Given the description of an element on the screen output the (x, y) to click on. 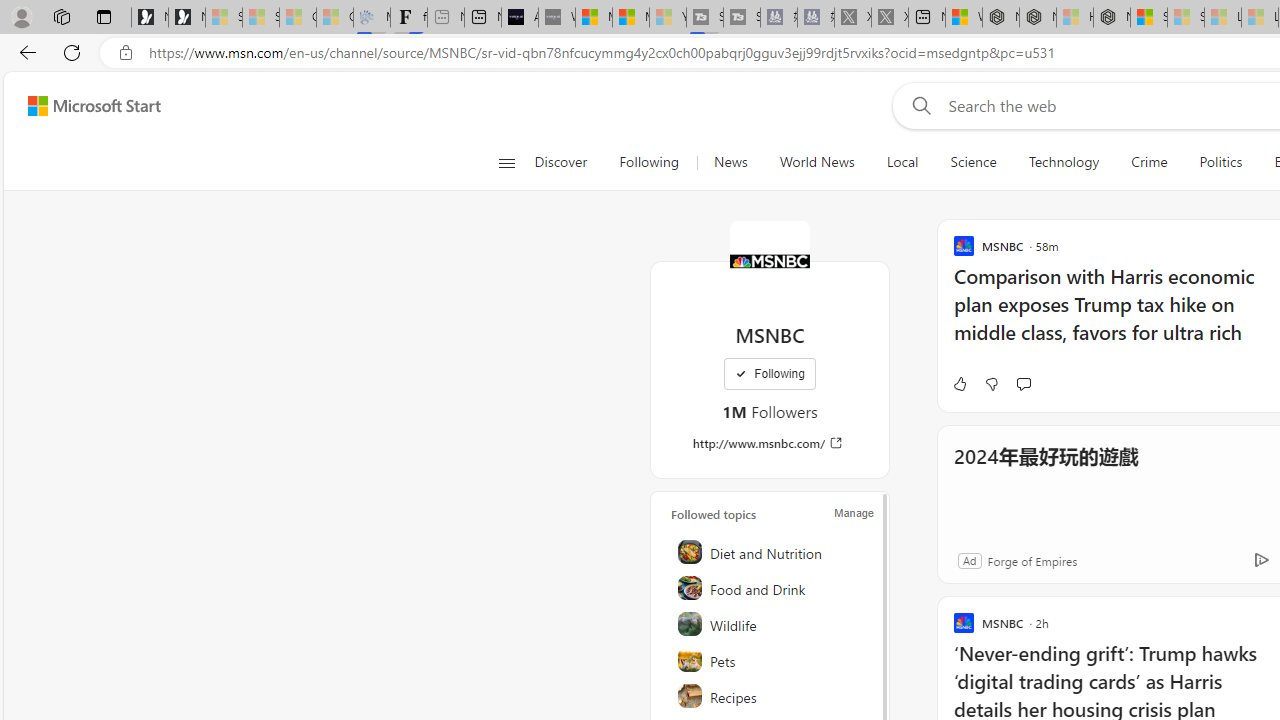
http://www.msnbc.com/ (769, 443)
Like (959, 384)
Nordace - Nordace Siena Is Not An Ordinary Backpack (1112, 17)
Class: button-glyph (505, 162)
Science (973, 162)
